Given the description of an element on the screen output the (x, y) to click on. 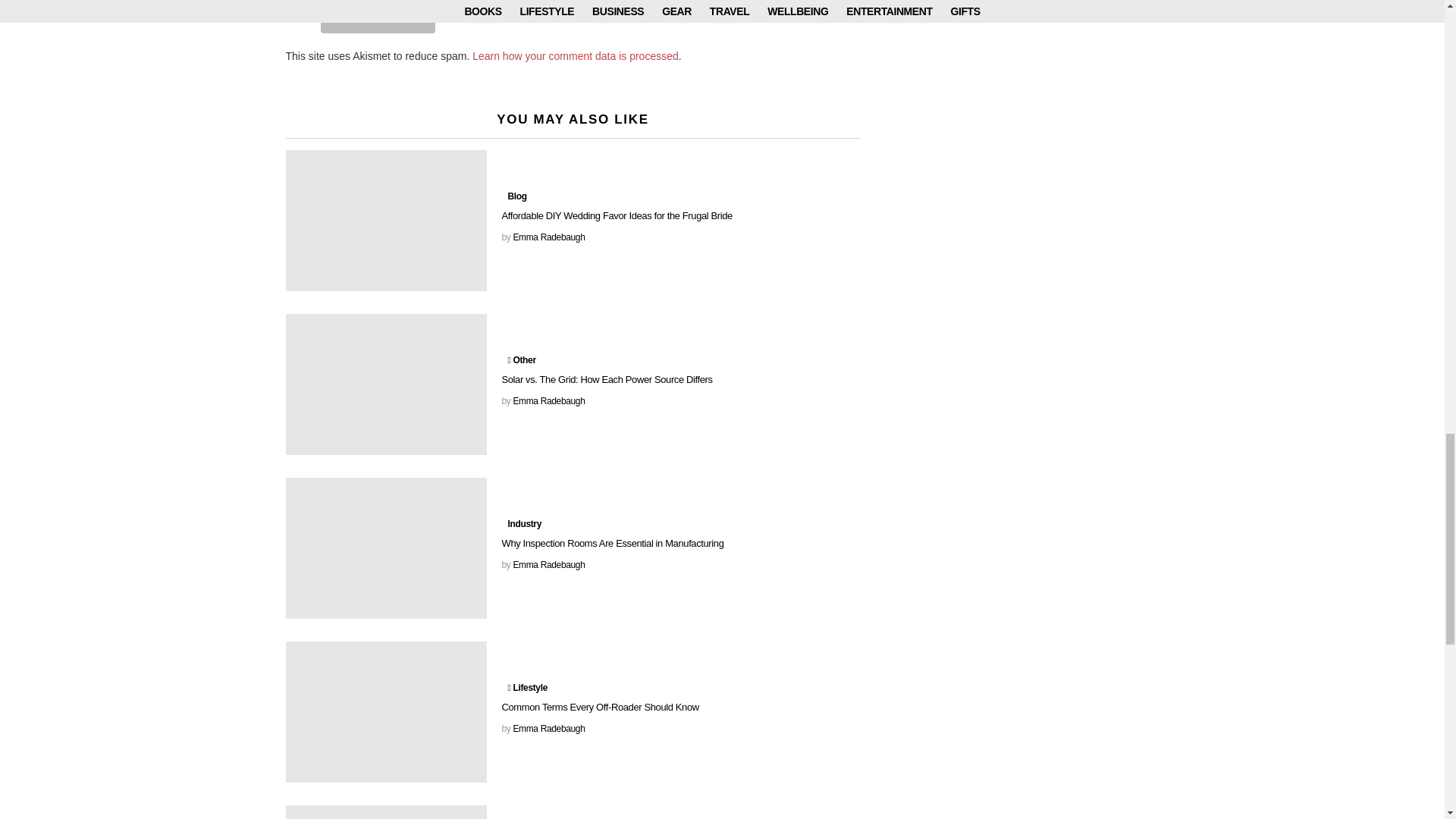
Tips for Attending Your First Masquerade Party (385, 812)
Posts by Emma Radebaugh (548, 400)
Posts by Emma Radebaugh (548, 564)
Affordable DIY Wedding Favor Ideas for the Frugal Bride (385, 220)
Posts by Emma Radebaugh (548, 236)
Why Inspection Rooms Are Essential in Manufacturing (385, 548)
Solar vs. The Grid: How Each Power Source Differs (385, 384)
Post Comment (377, 19)
Common Terms Every Off-Roader Should Know (385, 711)
Posts by Emma Radebaugh (548, 728)
